Given the description of an element on the screen output the (x, y) to click on. 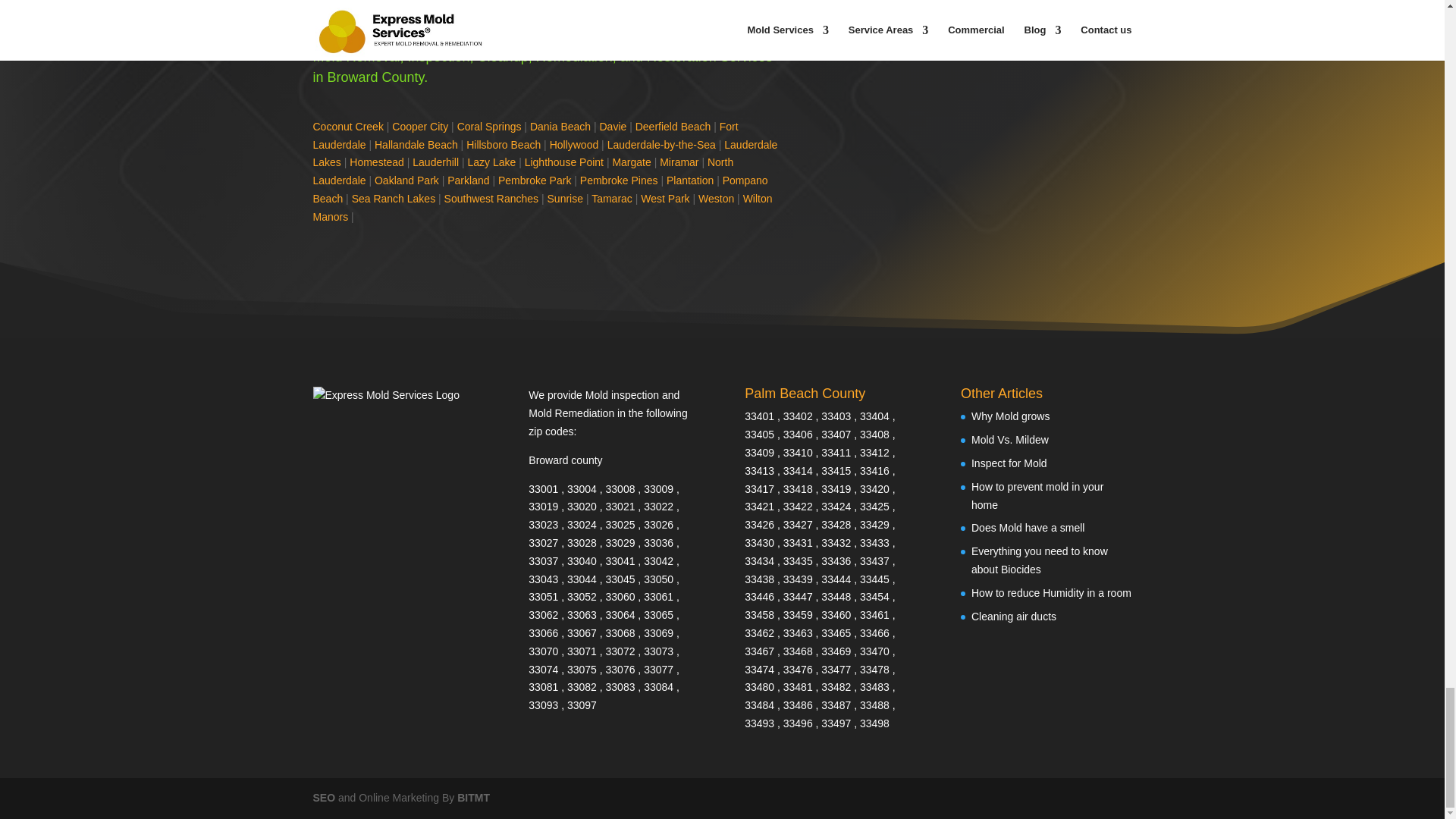
Bitmt (473, 797)
Seo (323, 797)
